Given the description of an element on the screen output the (x, y) to click on. 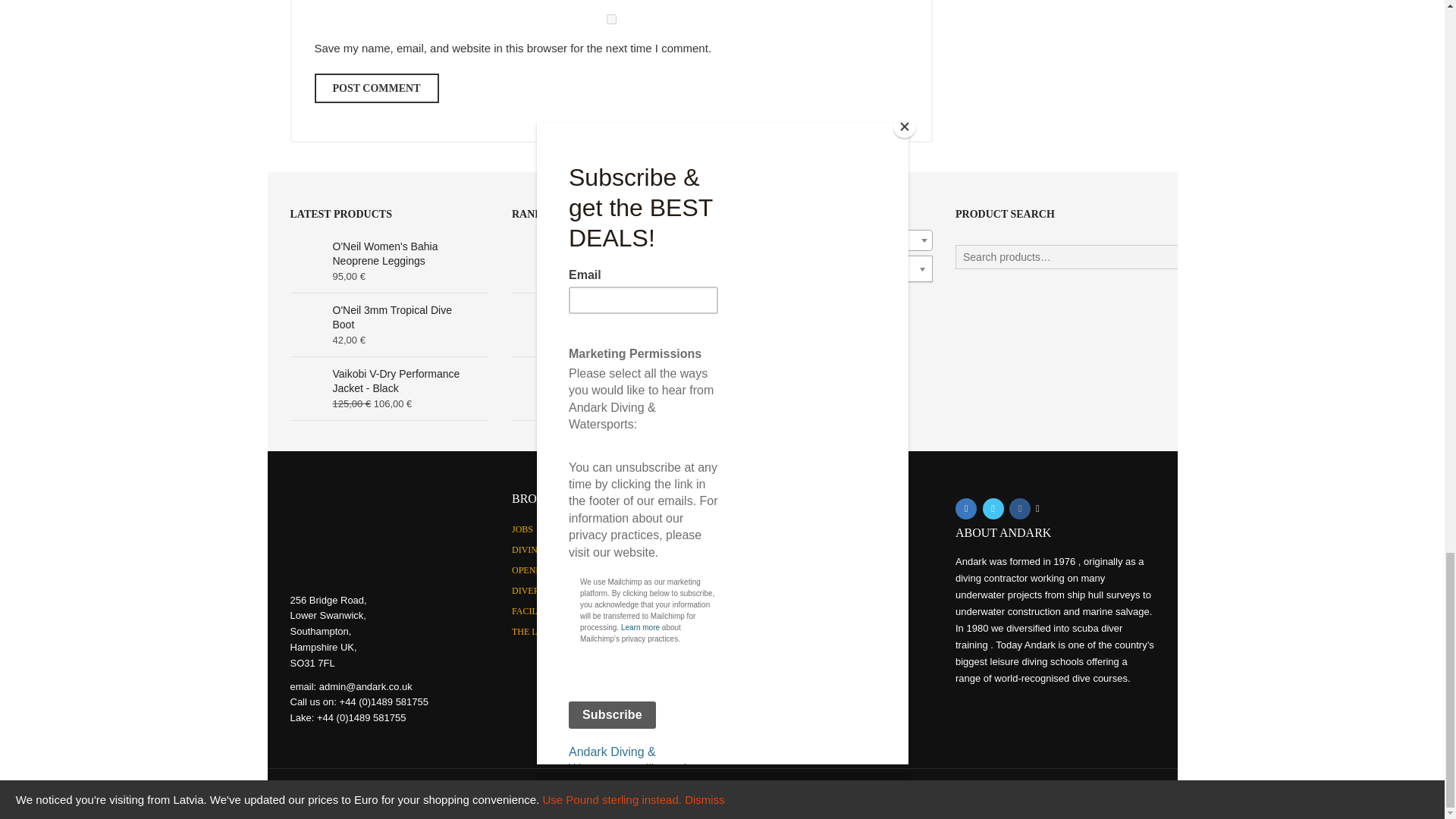
yes (611, 19)
Post Comment (376, 88)
